Given the description of an element on the screen output the (x, y) to click on. 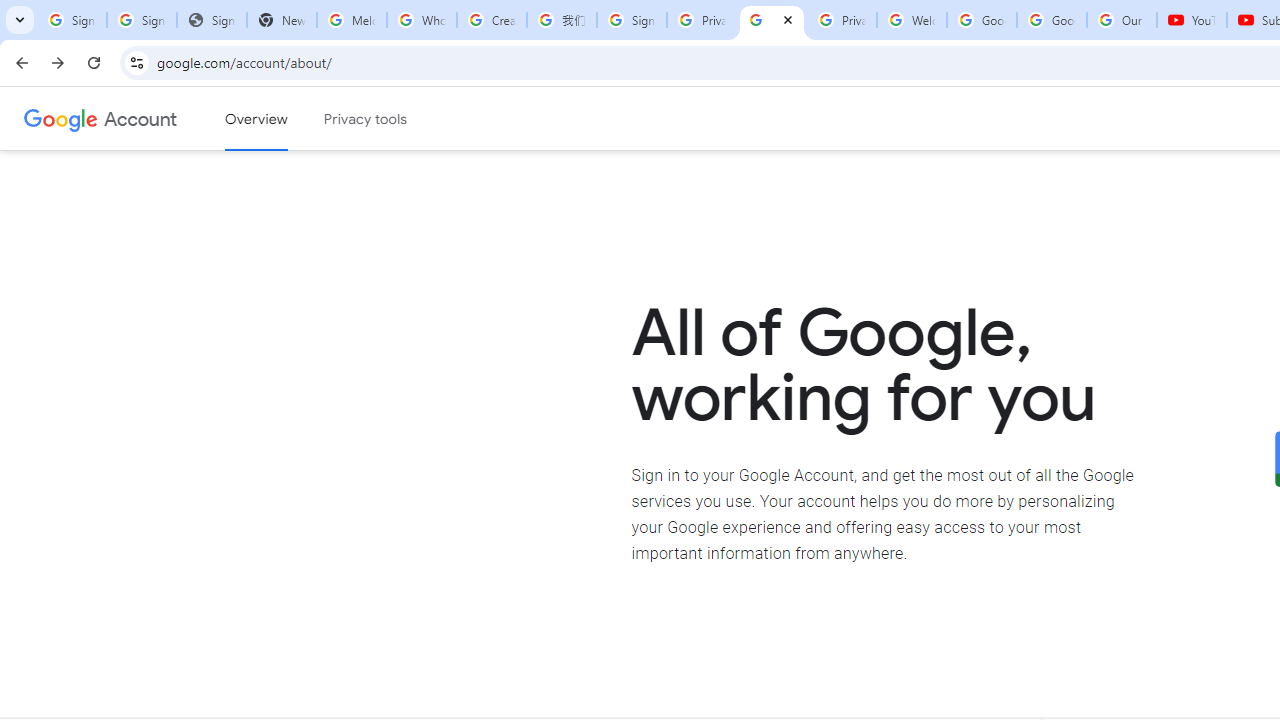
Google Account overview (256, 119)
Sign in - Google Accounts (631, 20)
Sign In - USA TODAY (211, 20)
Sign in - Google Accounts (141, 20)
Who is my administrator? - Google Account Help (421, 20)
Google Account (140, 118)
Sign in - Google Accounts (72, 20)
